Given the description of an element on the screen output the (x, y) to click on. 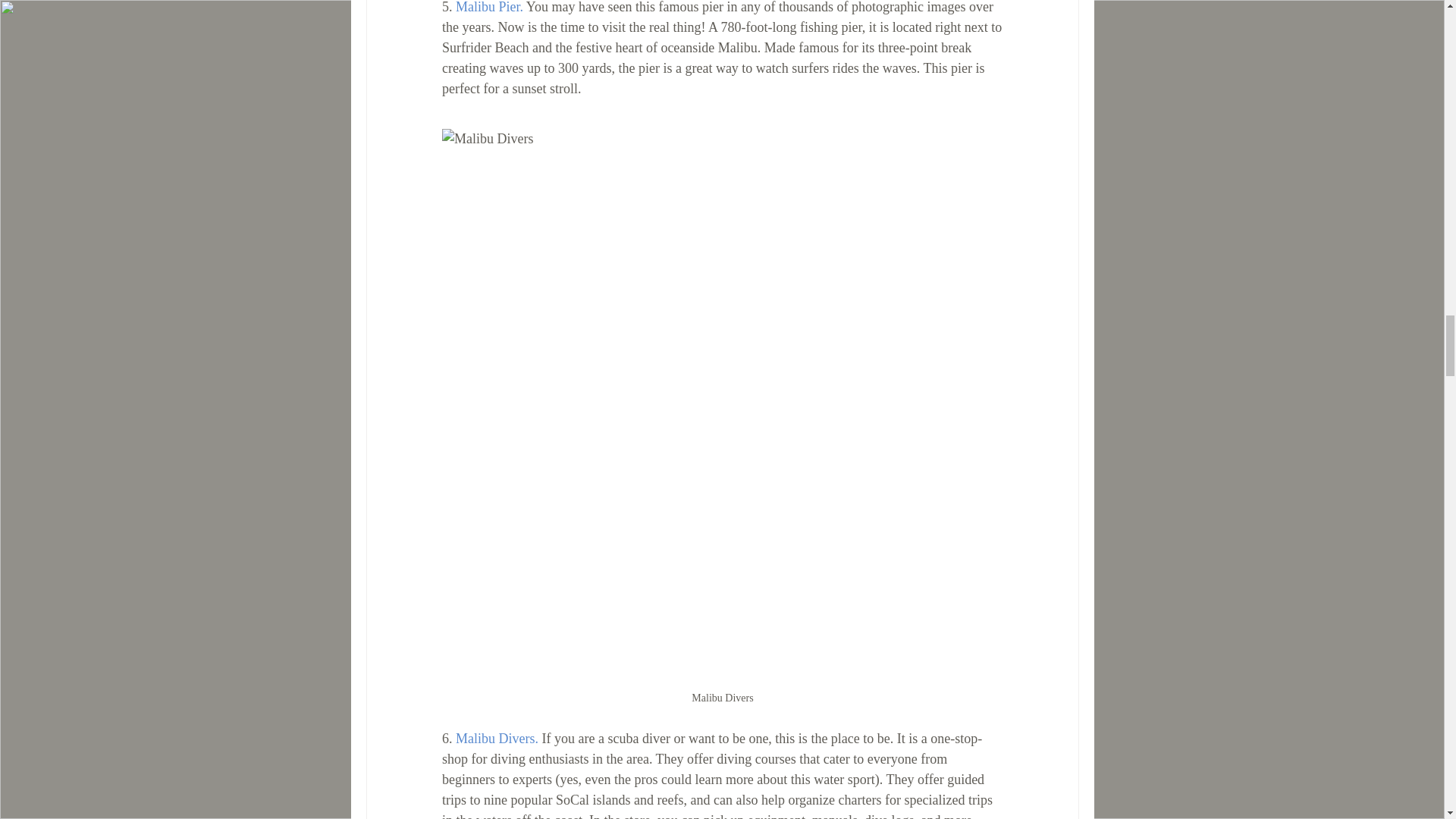
Malibu Divers. (495, 738)
Malibu Pier. (488, 7)
